Given the description of an element on the screen output the (x, y) to click on. 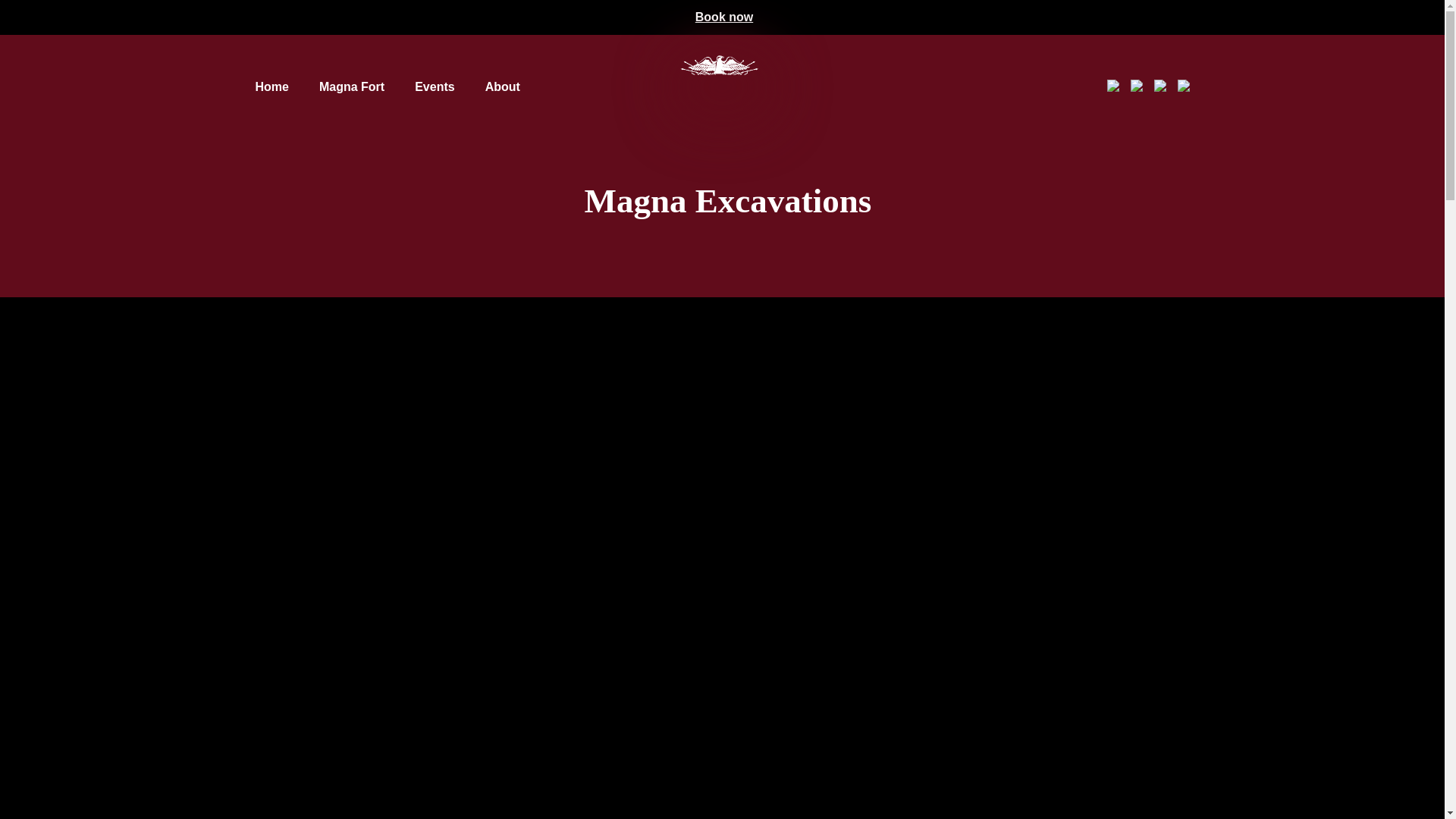
No thanks (1377, 780)
About (501, 86)
Home (271, 86)
Events (434, 86)
Read more (362, 779)
Magna Fort (351, 86)
CONTINUE (1284, 779)
Book now (723, 17)
